Given the description of an element on the screen output the (x, y) to click on. 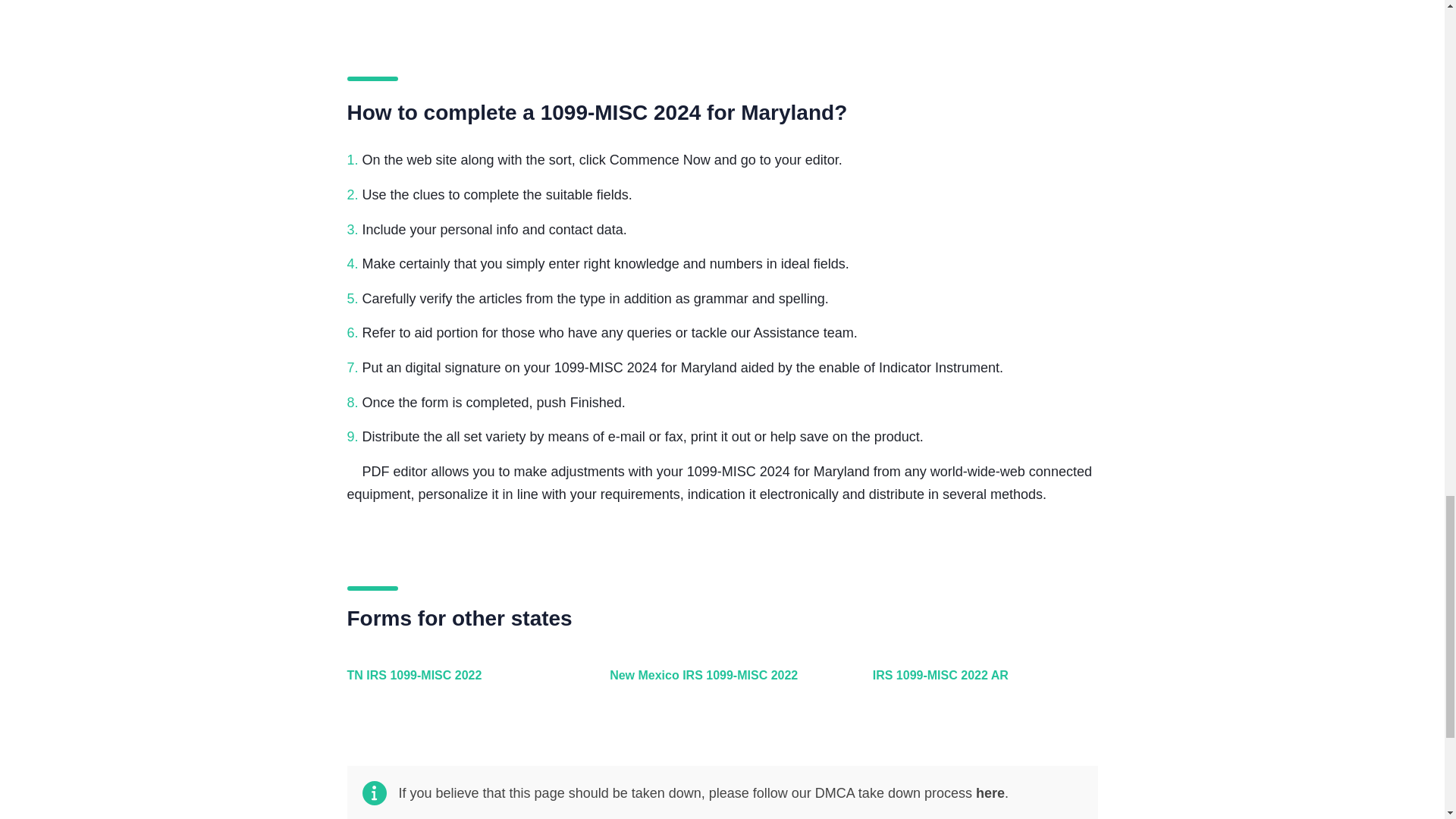
here (989, 792)
IRS 1099-MISC 2022 AR (981, 683)
New Mexico IRS 1099-MISC 2022 (718, 683)
TN IRS 1099-MISC 2022 (456, 683)
